Given the description of an element on the screen output the (x, y) to click on. 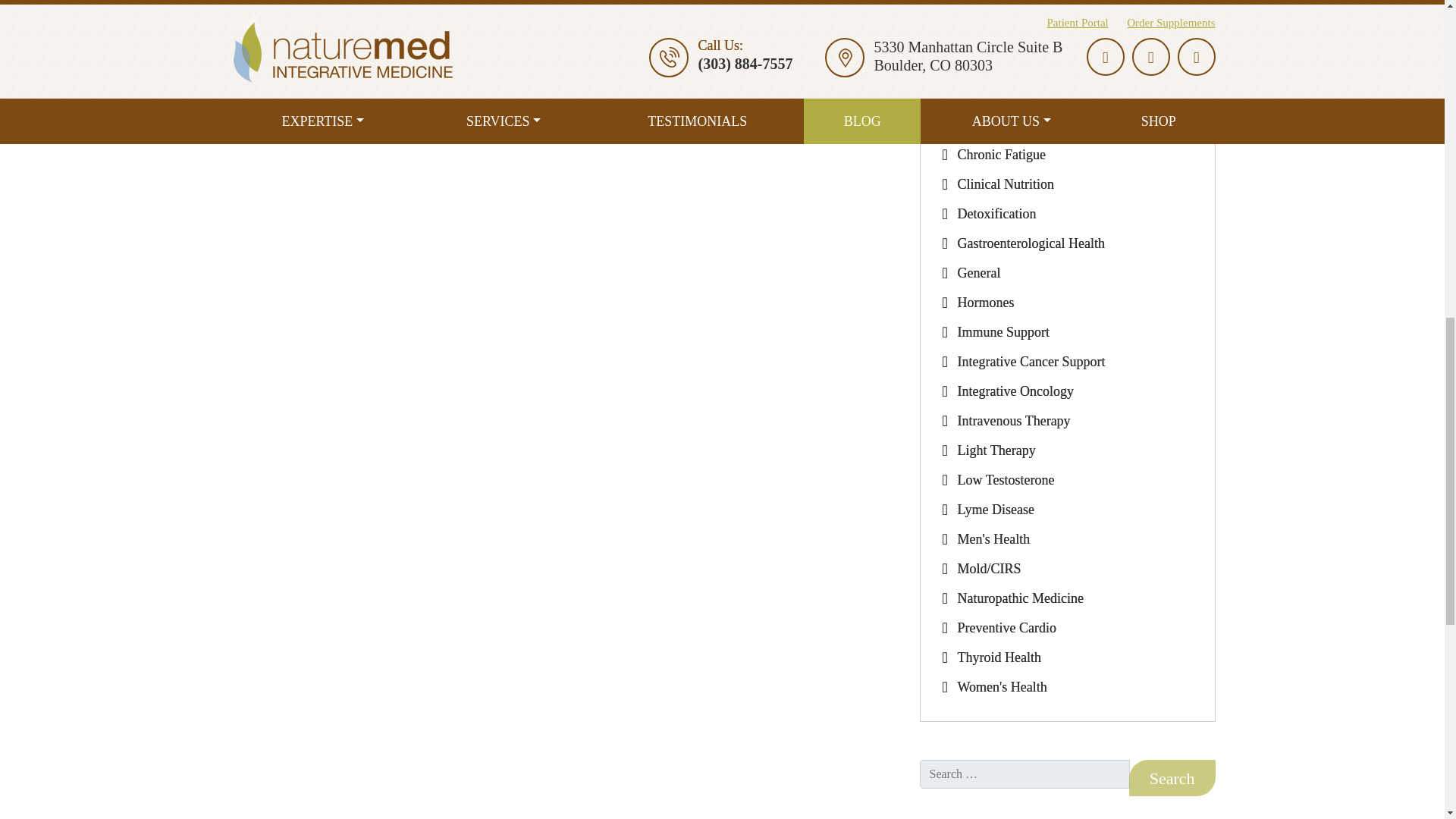
Search (1172, 778)
Search (1172, 778)
